Given the description of an element on the screen output the (x, y) to click on. 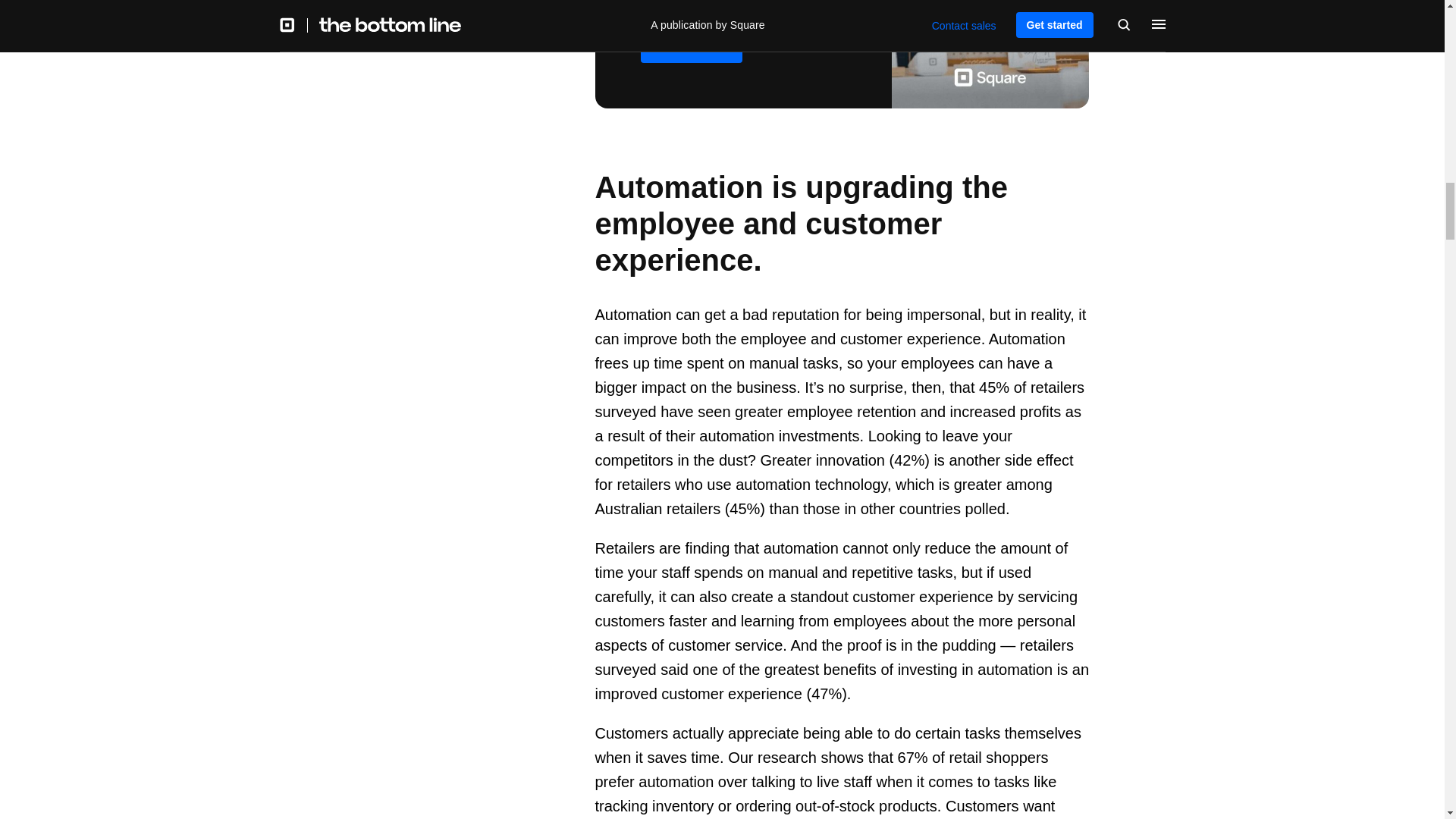
Future of Retail Report: 2024 Edition (841, 54)
